Given the description of an element on the screen output the (x, y) to click on. 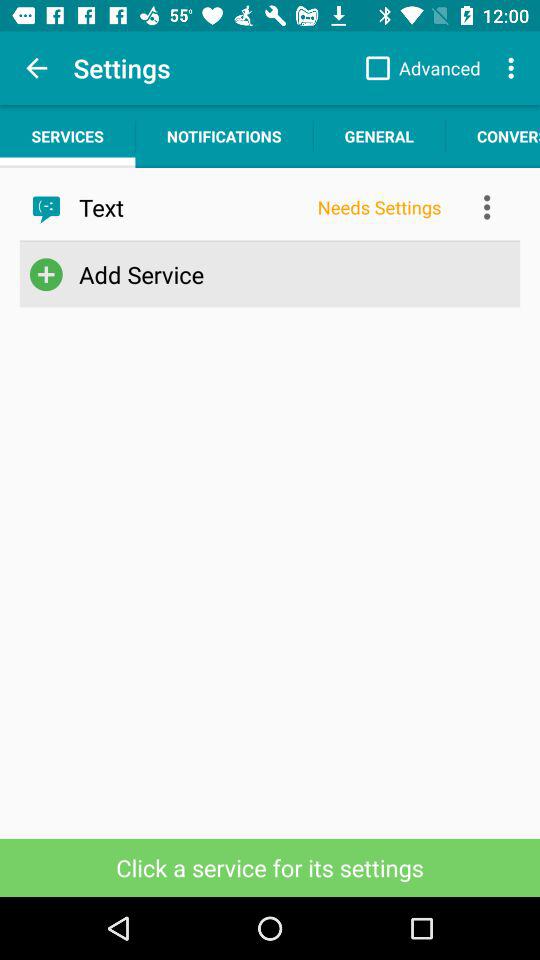
jump to the advanced item (418, 68)
